Given the description of an element on the screen output the (x, y) to click on. 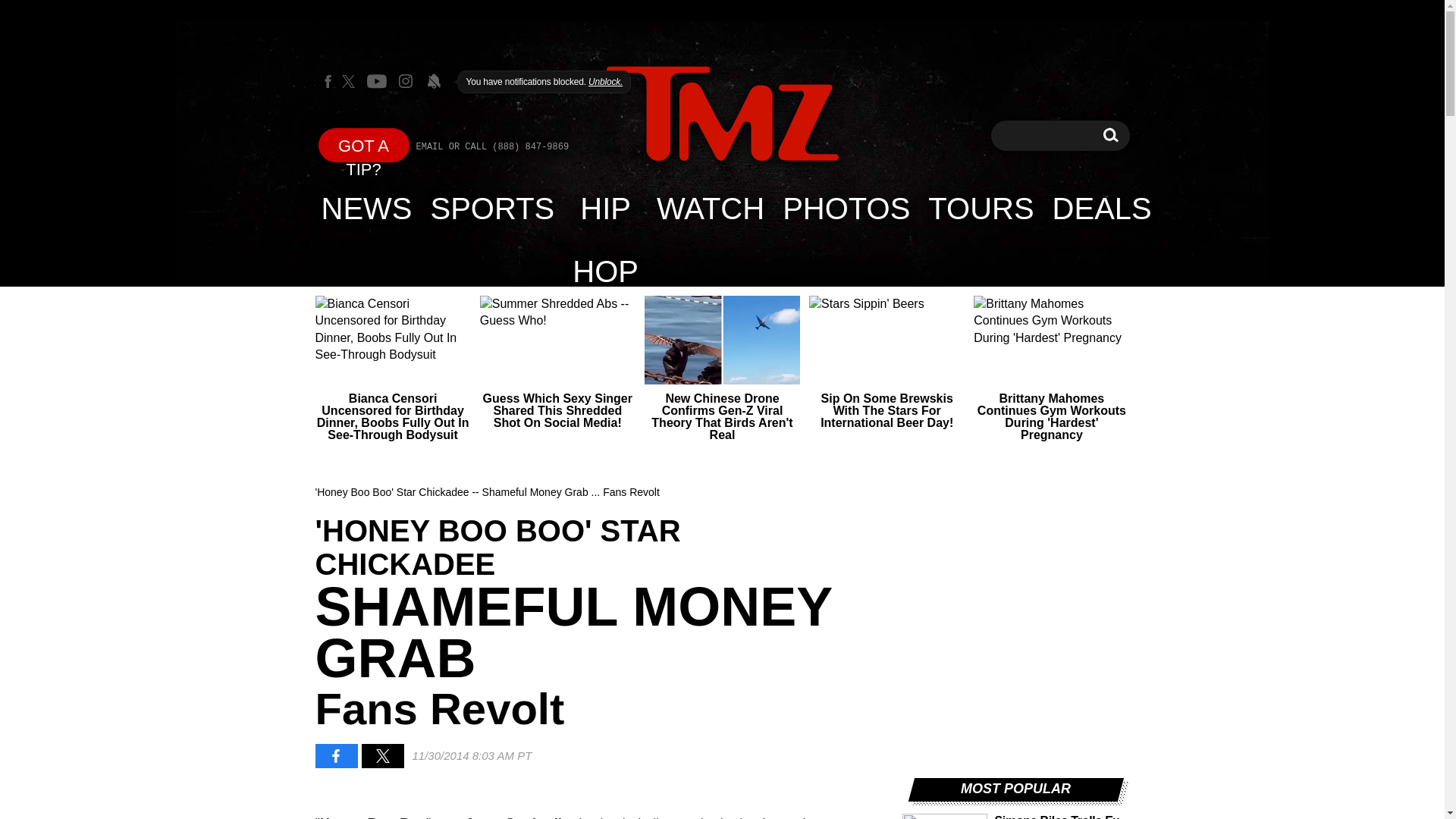
PHOTOS (845, 207)
SPORTS (493, 207)
GOT A TIP? (363, 144)
WATCH (710, 207)
NEWS (367, 207)
TMZ (722, 113)
TOURS (980, 207)
Search (1110, 135)
TMZ (1110, 134)
HIP HOP (722, 115)
DEALS (605, 207)
